Given the description of an element on the screen output the (x, y) to click on. 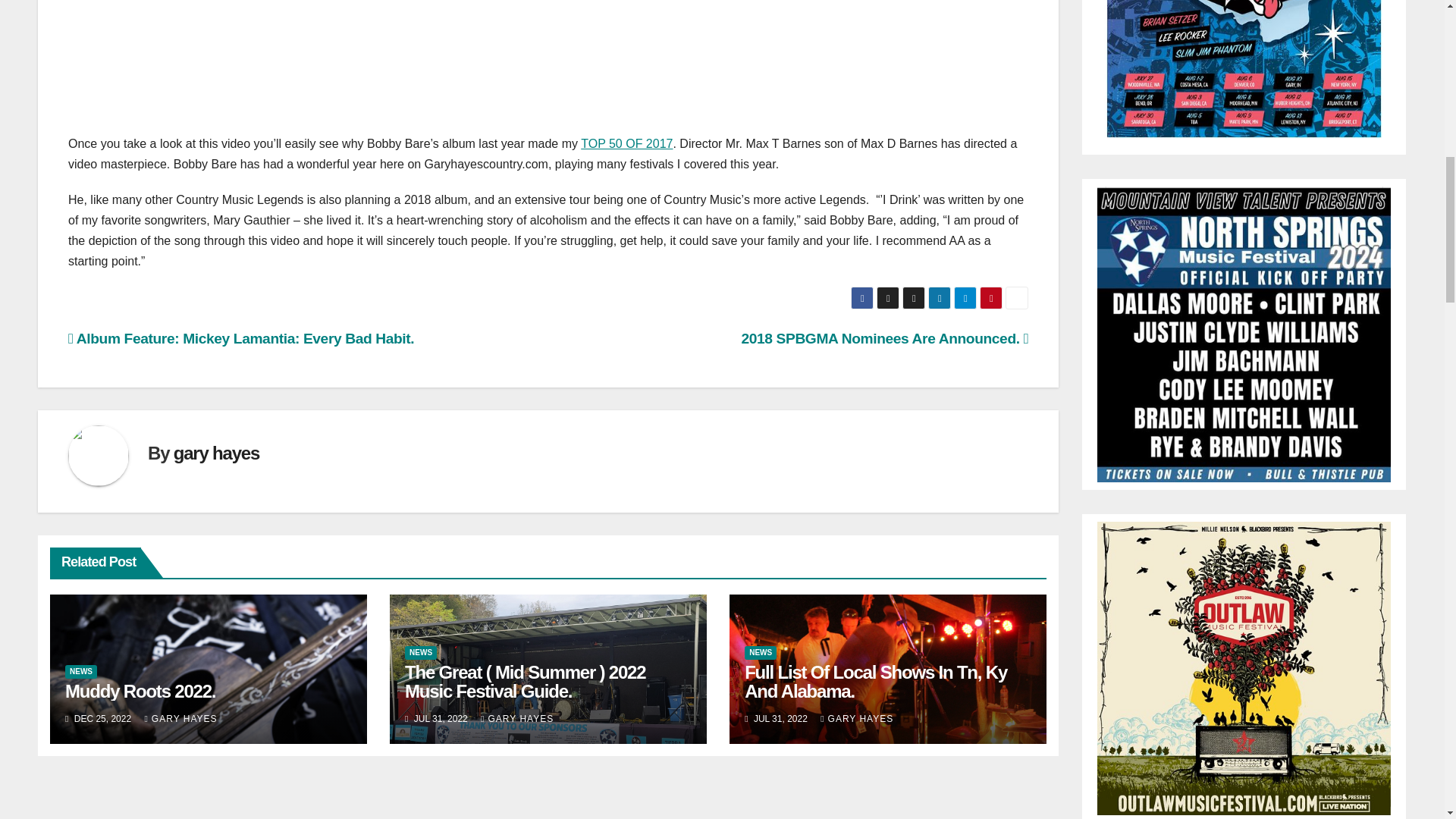
NEWS (420, 653)
NS kickoff (1243, 332)
NEWS (81, 671)
NEWS (760, 653)
gary hayes (216, 453)
GARY HAYES (516, 718)
Outlaw (1243, 666)
Full List Of Local Shows In Tn, Ky And Alabama. (875, 681)
TOP 50 OF 2017 (626, 143)
2018 SPBGMA Nominees Are Announced. (884, 338)
Album Feature: Mickey Lamantia: Every Bad Habit. (240, 338)
Permalink to: Muddy Roots 2022. (140, 690)
Muddy Roots 2022. (140, 690)
GARY HAYES (180, 718)
